Given the description of an element on the screen output the (x, y) to click on. 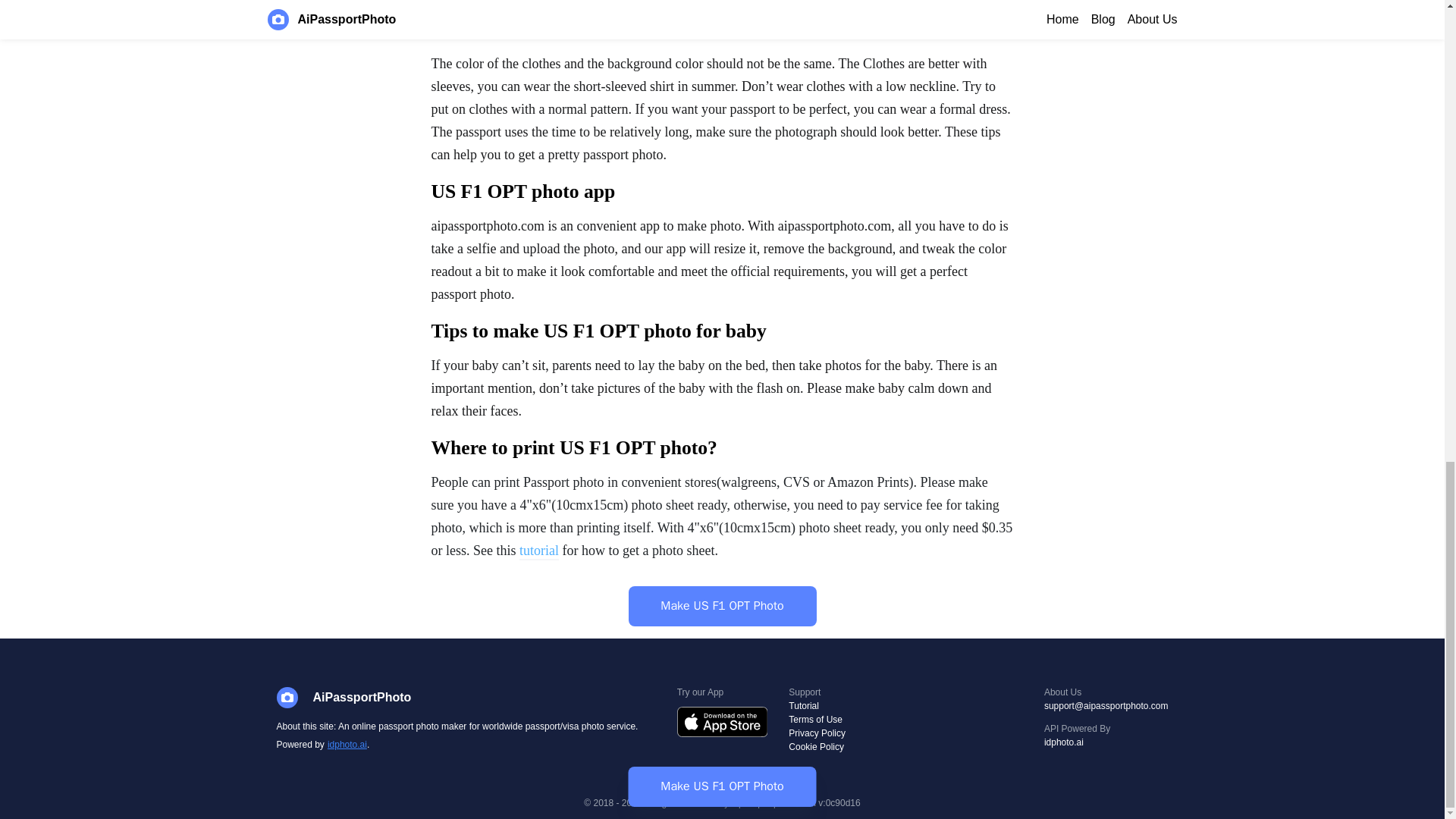
idphoto.ai (345, 744)
tutorial (539, 551)
idphoto.ai (1106, 742)
Make US F1 OPT Photo (721, 606)
